Given the description of an element on the screen output the (x, y) to click on. 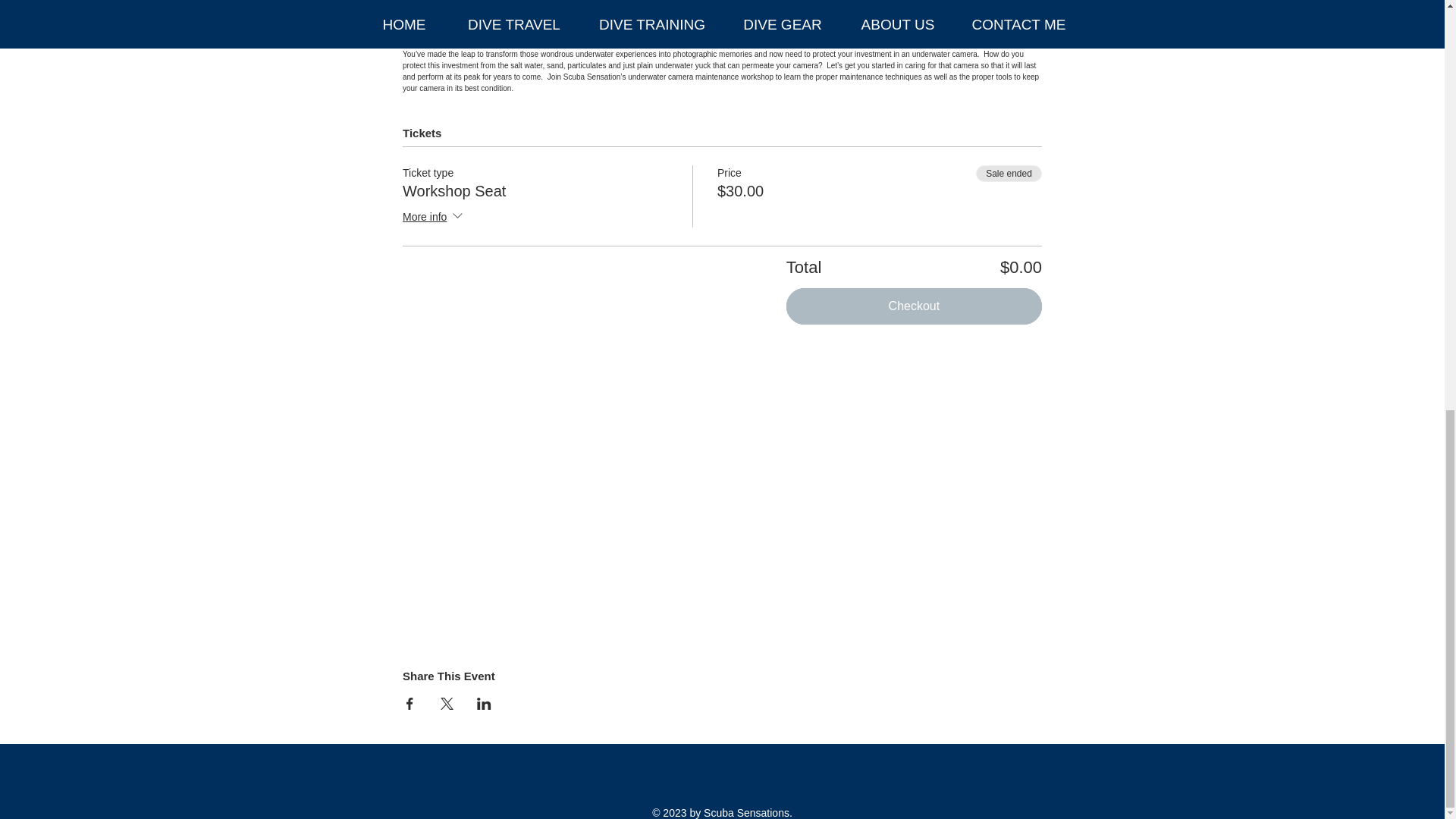
More info (434, 217)
Checkout (914, 306)
